Given the description of an element on the screen output the (x, y) to click on. 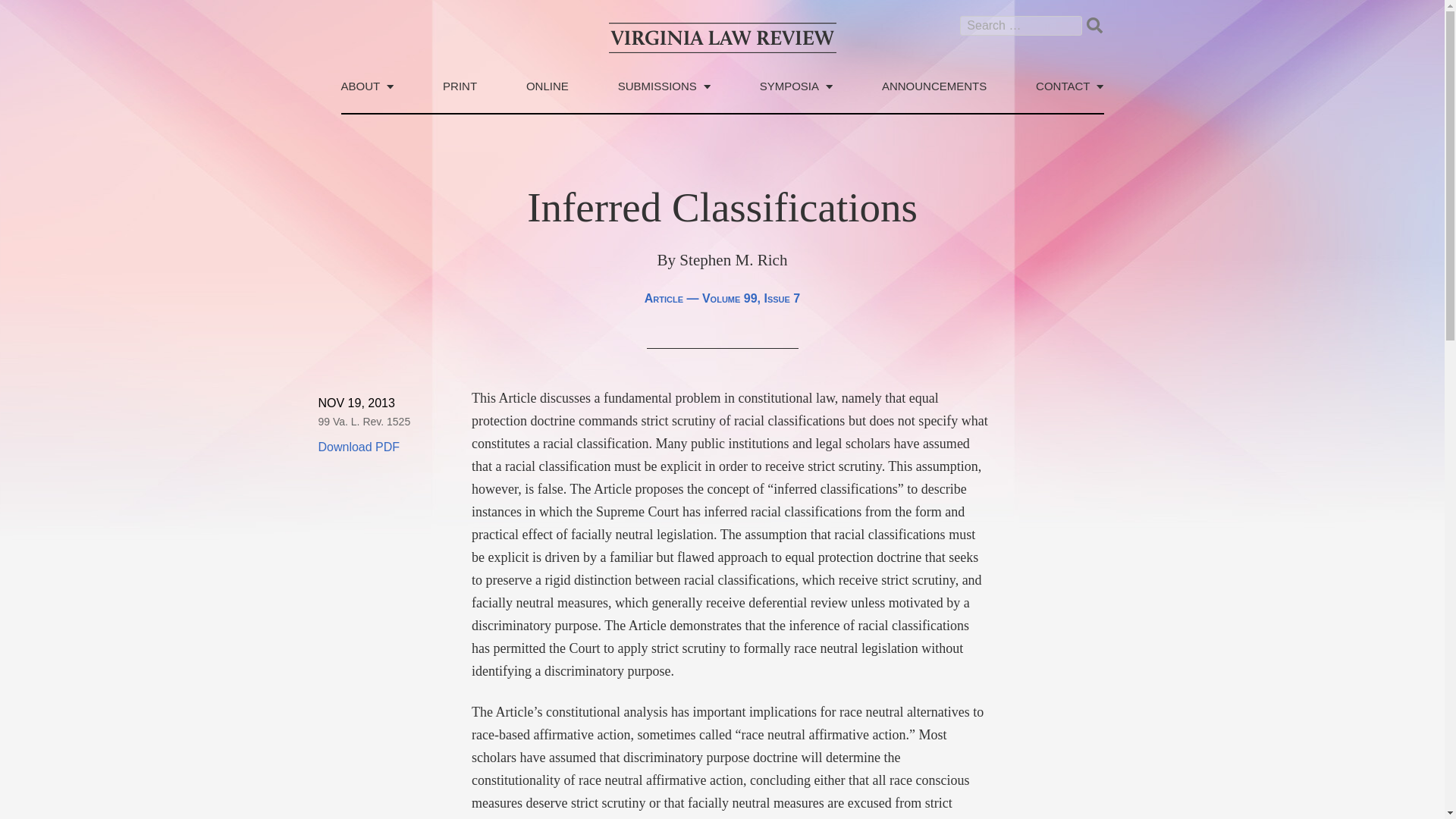
SUBMISSIONS (663, 96)
Search (1094, 24)
CONTACT (1069, 96)
Search (1094, 24)
ABOUT (367, 96)
PRINT (459, 96)
ANNOUNCEMENTS (934, 96)
SYMPOSIA (796, 96)
Volume 99 (729, 297)
Download PDF (359, 446)
Search (1094, 24)
ONLINE (547, 96)
